Given the description of an element on the screen output the (x, y) to click on. 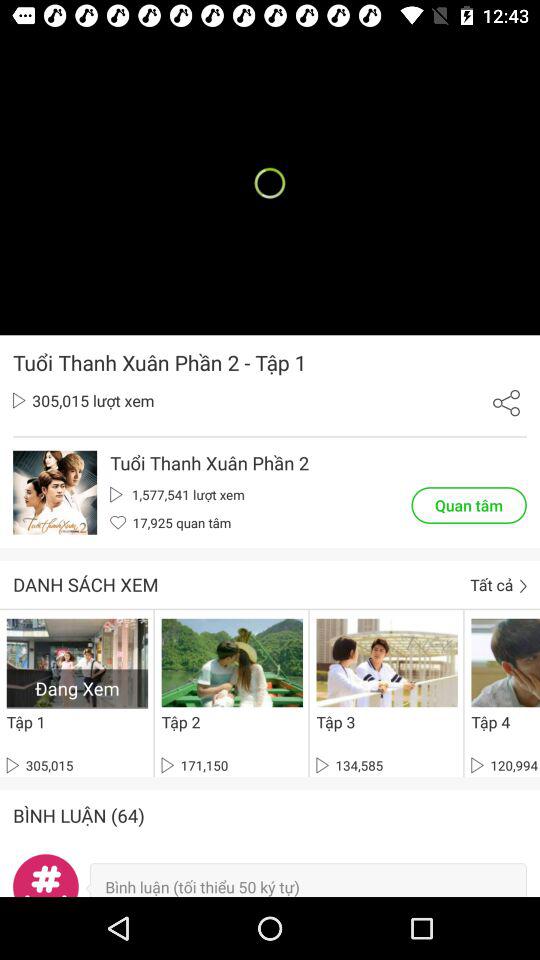
select 17 925 quan (170, 522)
